Given the description of an element on the screen output the (x, y) to click on. 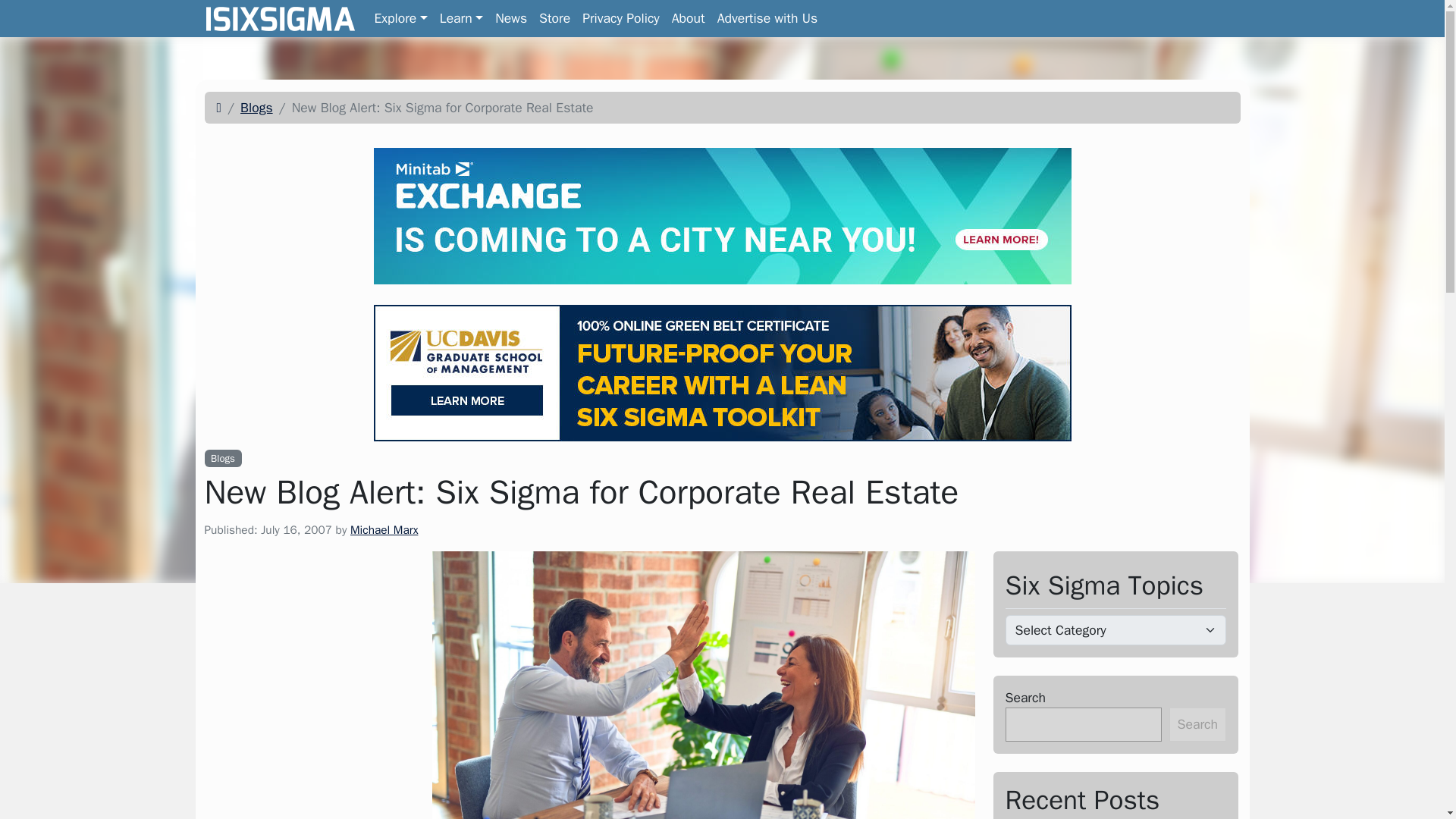
Explore (400, 18)
Posts by Michael Marx (722, 107)
Learn (383, 529)
